Given the description of an element on the screen output the (x, y) to click on. 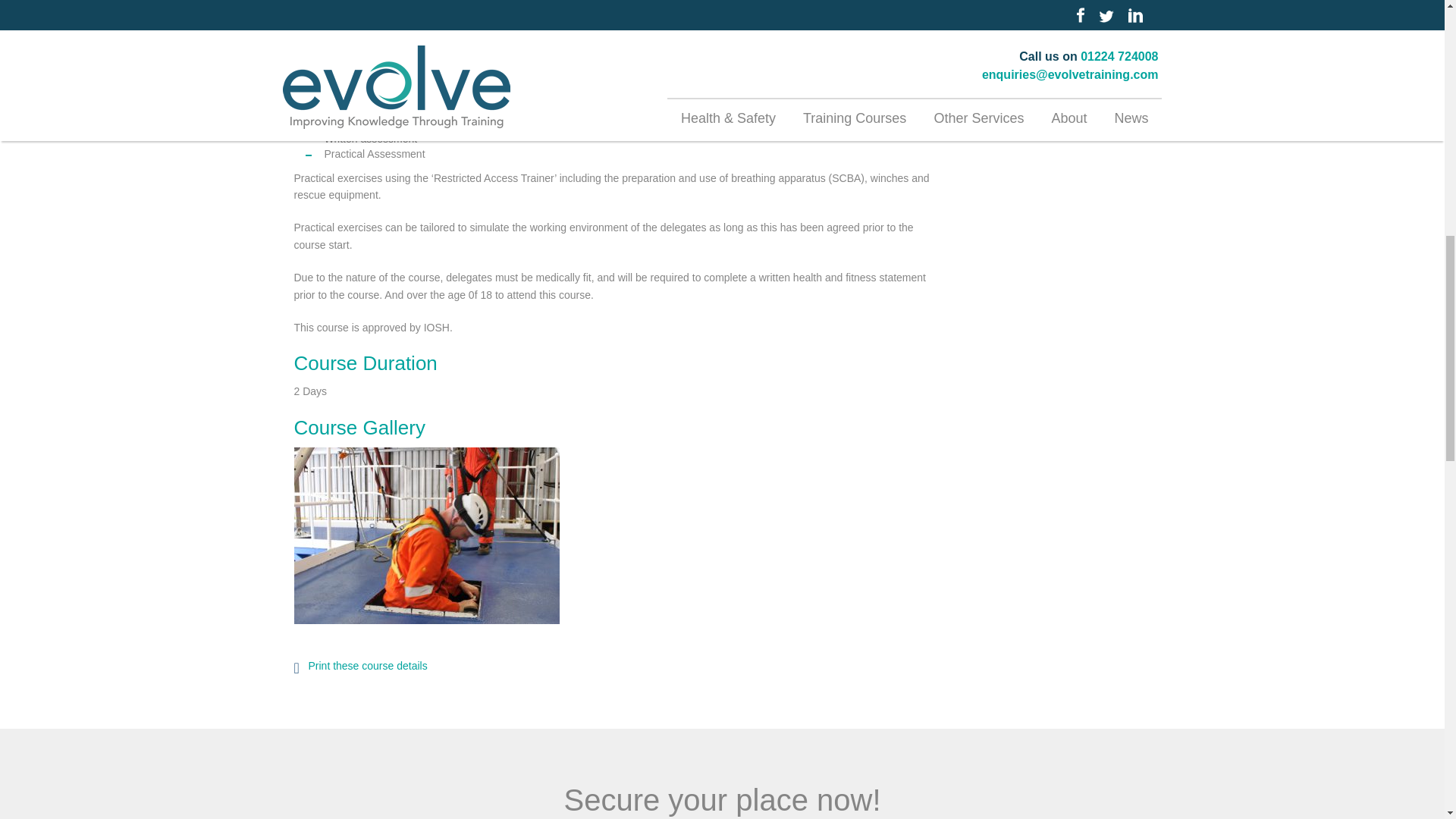
 IOSH Approved Confined Space Entry - 2 days  (426, 535)
